Given the description of an element on the screen output the (x, y) to click on. 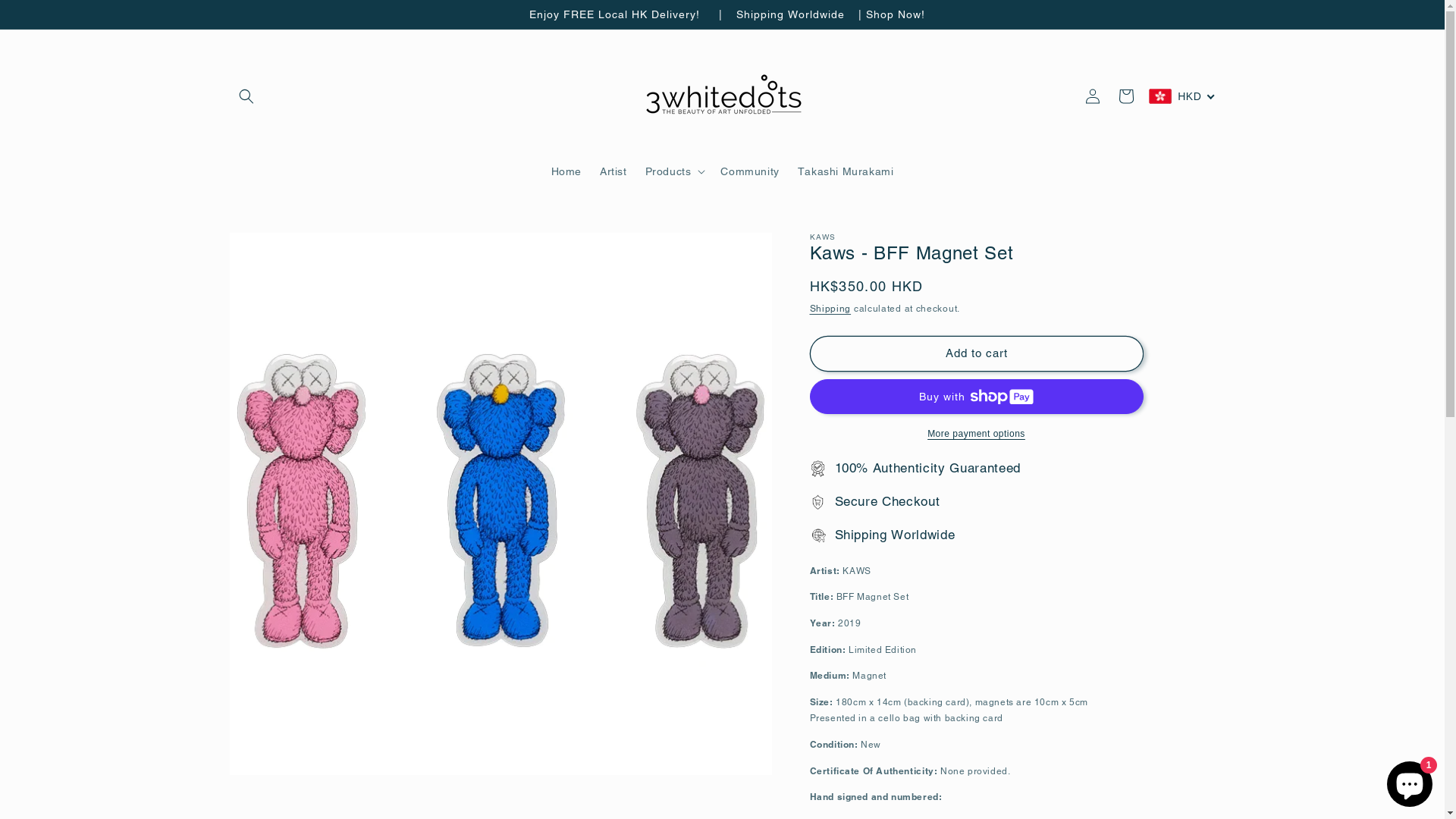
Artist Element type: text (613, 171)
Shopify online store chat Element type: hover (1409, 780)
Add to cart Element type: text (976, 353)
Skip to product information Element type: text (275, 249)
Community Element type: text (749, 171)
More payment options Element type: text (976, 433)
Home Element type: text (566, 171)
Shipping Element type: text (830, 308)
Cart Element type: text (1125, 95)
Log in Element type: text (1092, 95)
Takashi Murakami Element type: text (845, 171)
KAWS Element type: text (822, 236)
